Given the description of an element on the screen output the (x, y) to click on. 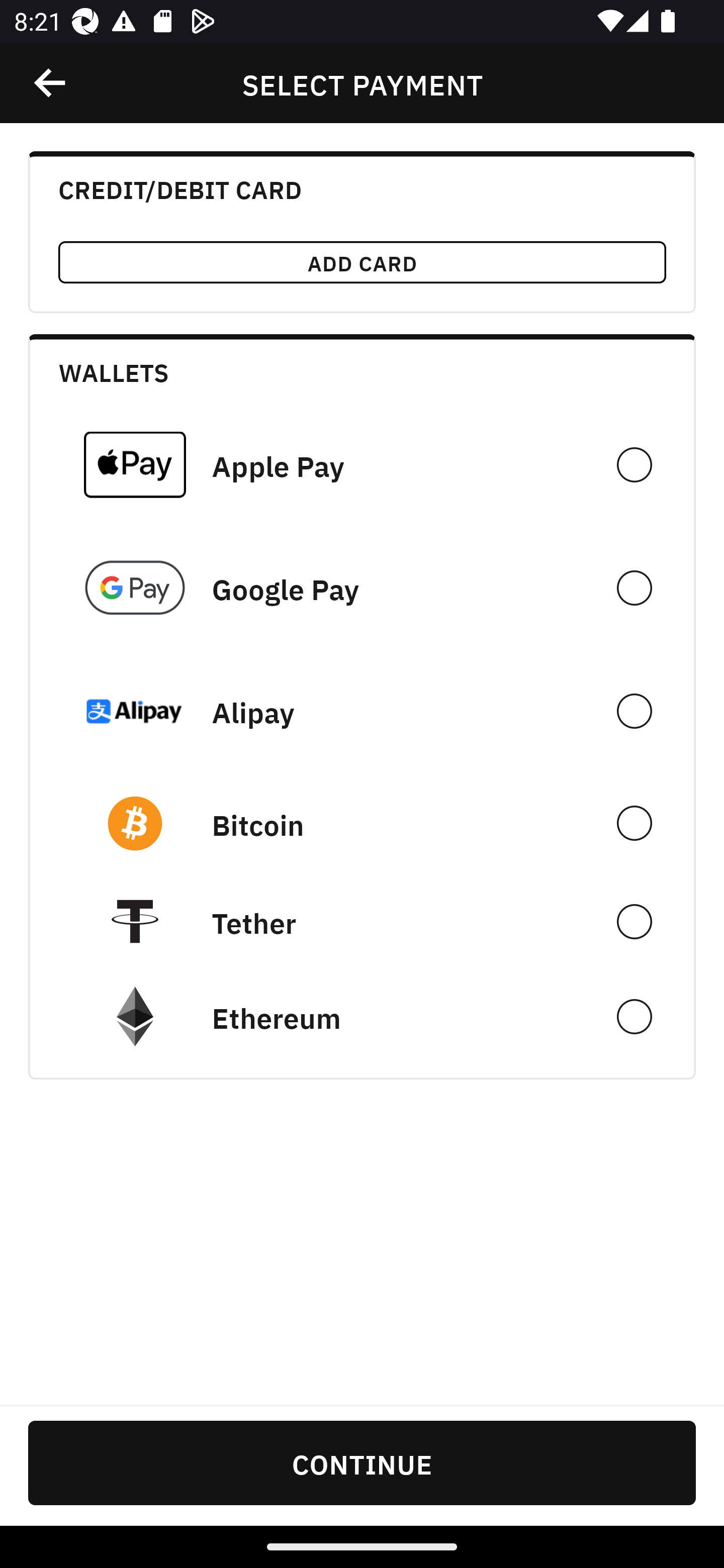
 (50, 83)
ADD CARD (362, 262)
Apple Pay (362, 464)
Google Pay (362, 587)
Alipay (362, 711)
󰠓 Bitcoin (362, 823)
Tether (362, 921)
Ethereum (362, 1016)
CONTINUE (361, 1462)
